Given the description of an element on the screen output the (x, y) to click on. 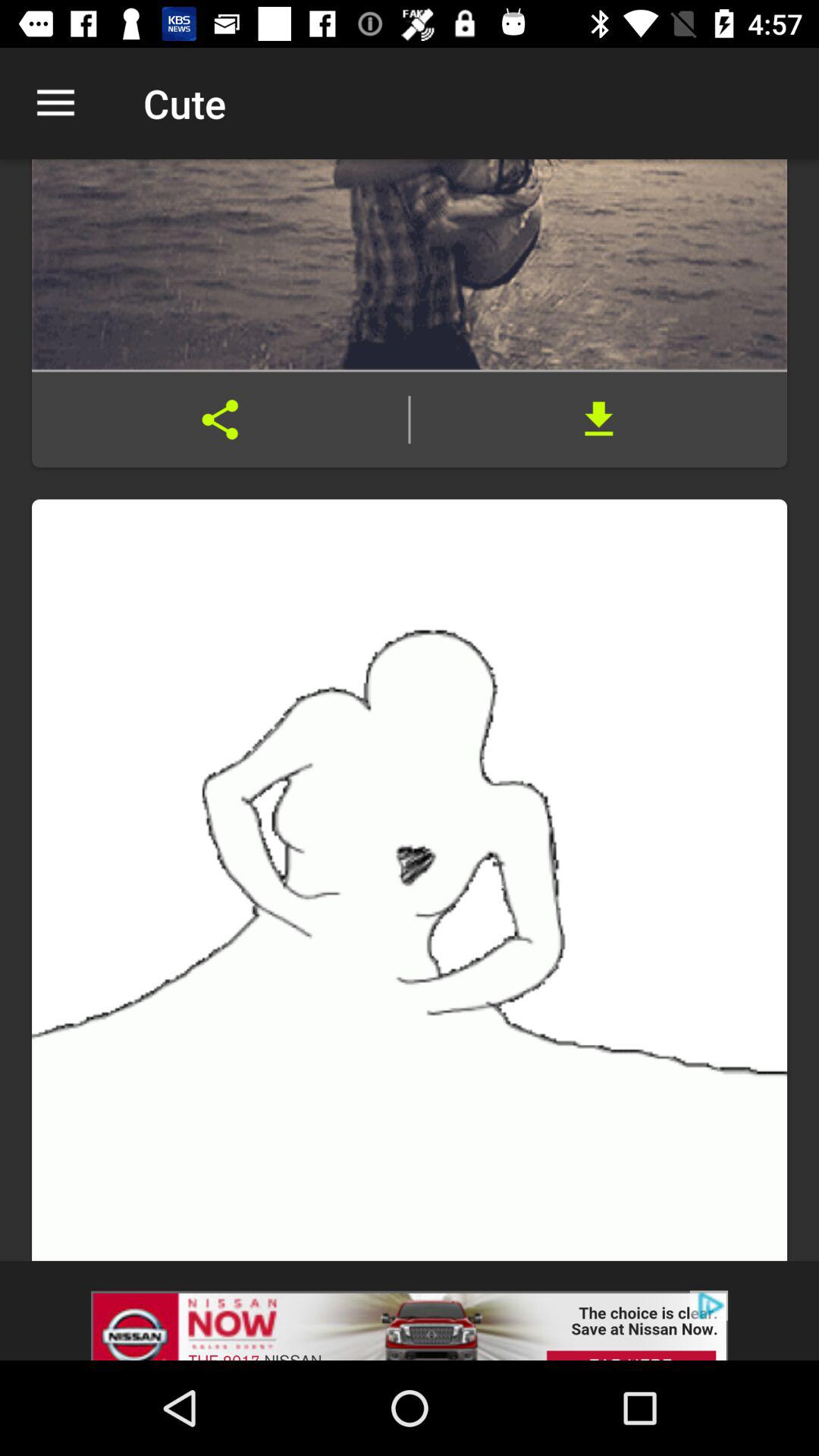
download option turned on (598, 419)
